Given the description of an element on the screen output the (x, y) to click on. 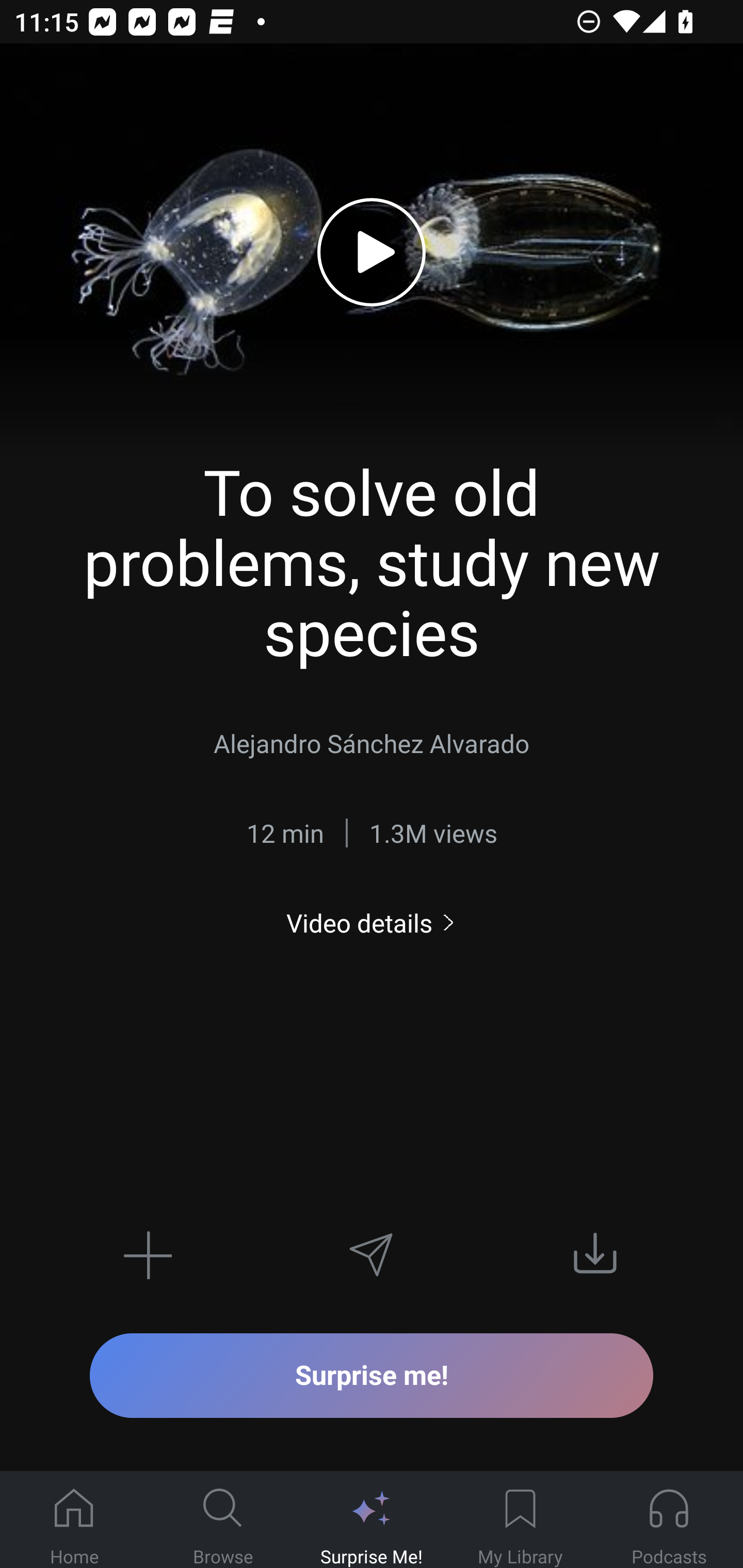
Video details (371, 922)
Surprise me! (371, 1374)
Home (74, 1520)
Browse (222, 1520)
Surprise Me! (371, 1520)
My Library (519, 1520)
Podcasts (668, 1520)
